Given the description of an element on the screen output the (x, y) to click on. 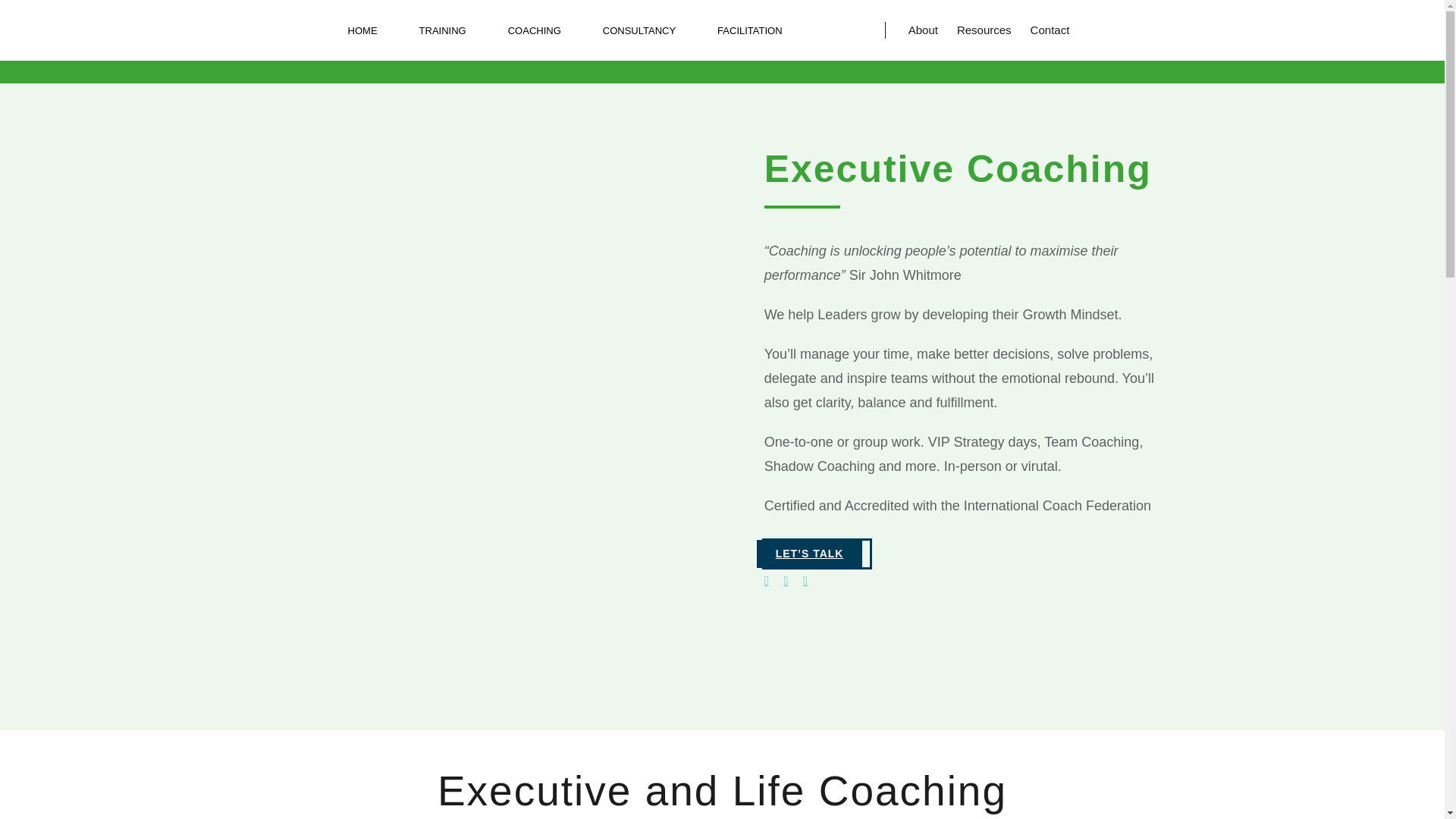
Resources (983, 30)
About (922, 30)
FACILITATION (743, 30)
COACHING (528, 30)
Facebook (766, 580)
Instagram (785, 580)
TRAINING (437, 30)
Contact (1050, 30)
LinkedIn (805, 580)
HOME (363, 30)
CONSULTANCY (633, 30)
